Given the description of an element on the screen output the (x, y) to click on. 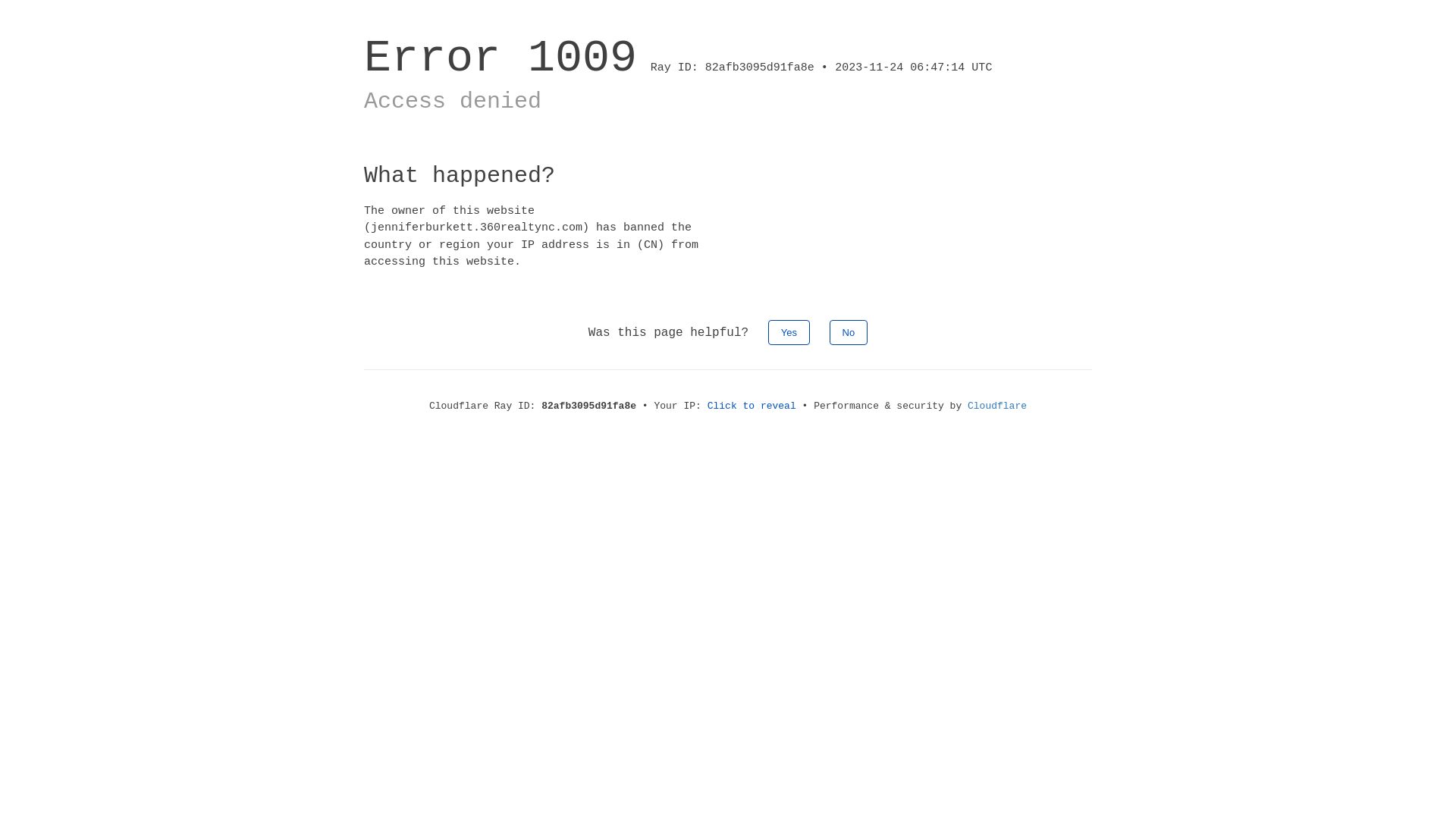
Cloudflare Element type: text (996, 405)
Yes Element type: text (788, 332)
No Element type: text (848, 332)
Click to reveal Element type: text (751, 405)
